Given the description of an element on the screen output the (x, y) to click on. 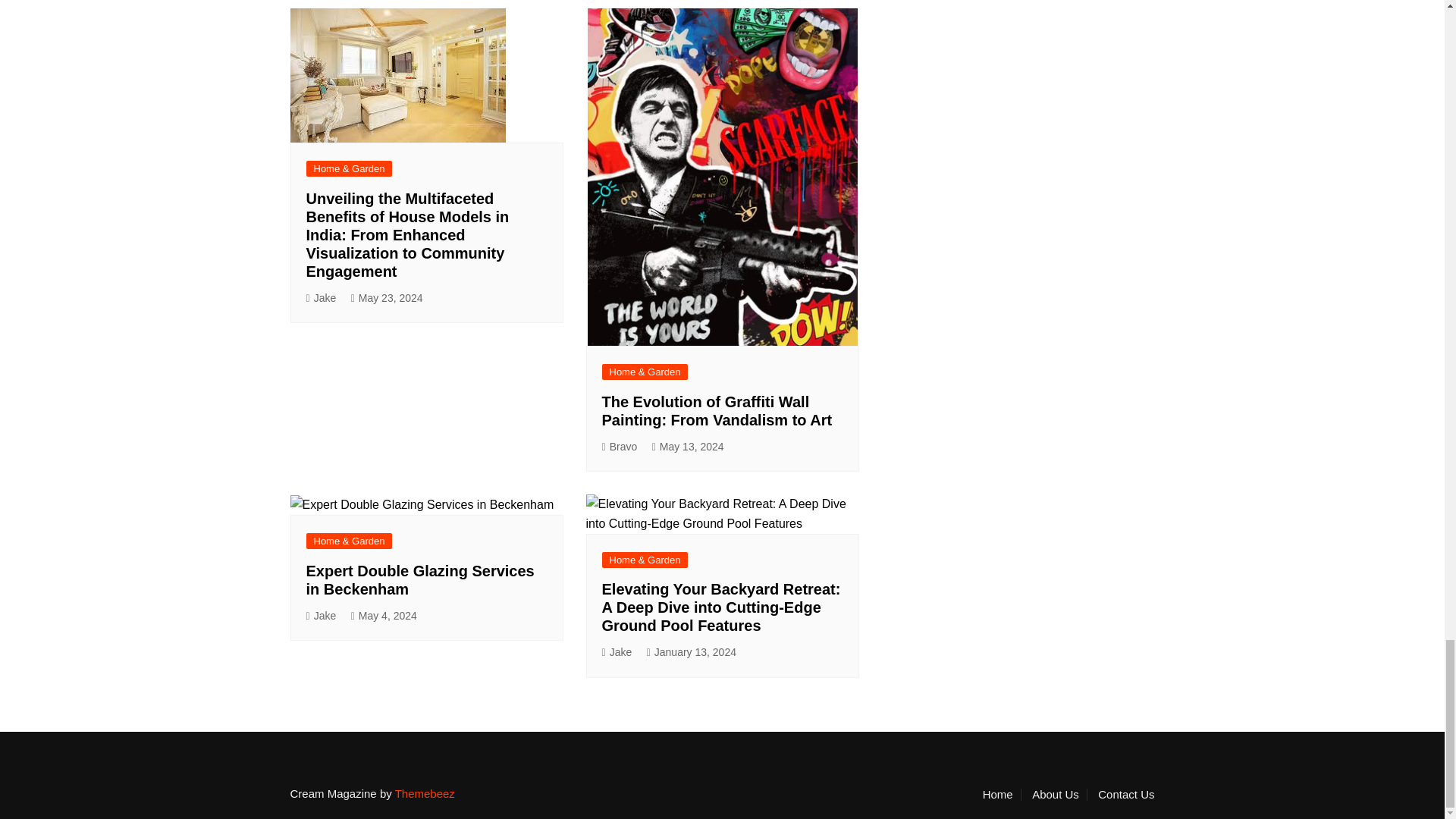
Jake (320, 298)
May 23, 2024 (386, 298)
